Given the description of an element on the screen output the (x, y) to click on. 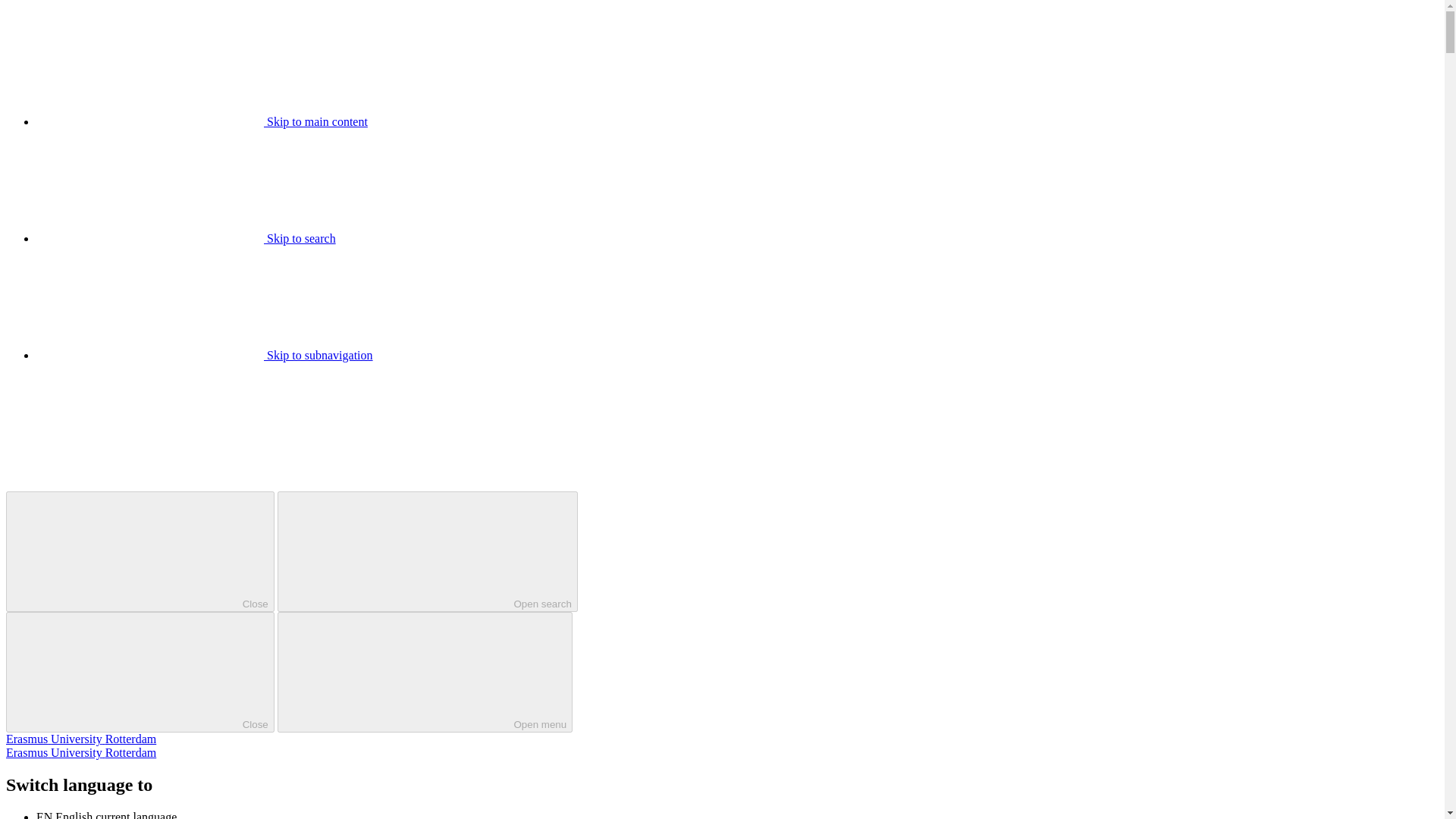
Skip to main content (202, 121)
Open menu (425, 671)
Erasmus University Rotterdam (80, 752)
Skip to search (186, 237)
Open search (428, 551)
Skip to subnavigation (204, 354)
Close (140, 551)
Close (140, 671)
Erasmus University Rotterdam (80, 738)
